Given the description of an element on the screen output the (x, y) to click on. 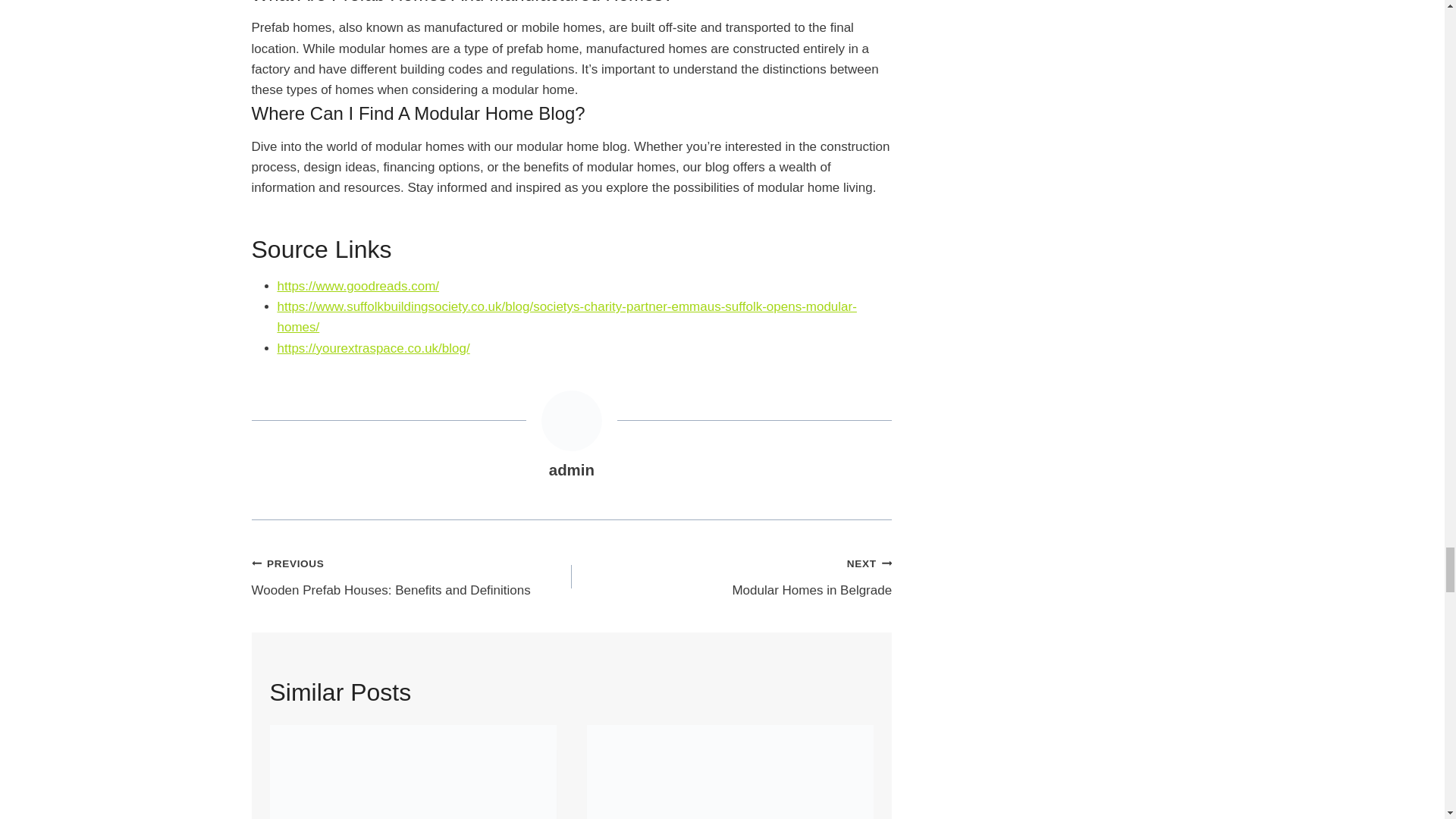
Posts by admin (571, 469)
admin (411, 576)
